Given the description of an element on the screen output the (x, y) to click on. 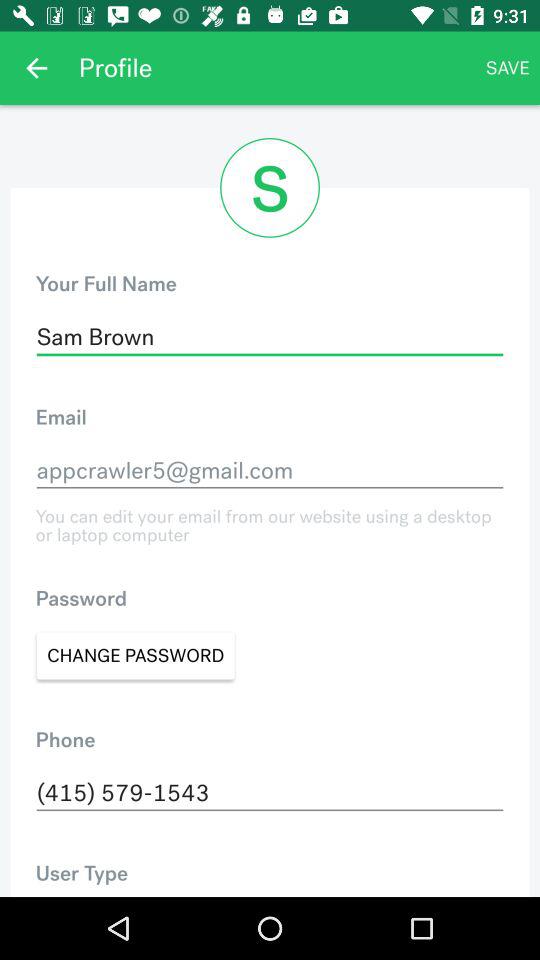
launch the icon at the top right corner (507, 67)
